Given the description of an element on the screen output the (x, y) to click on. 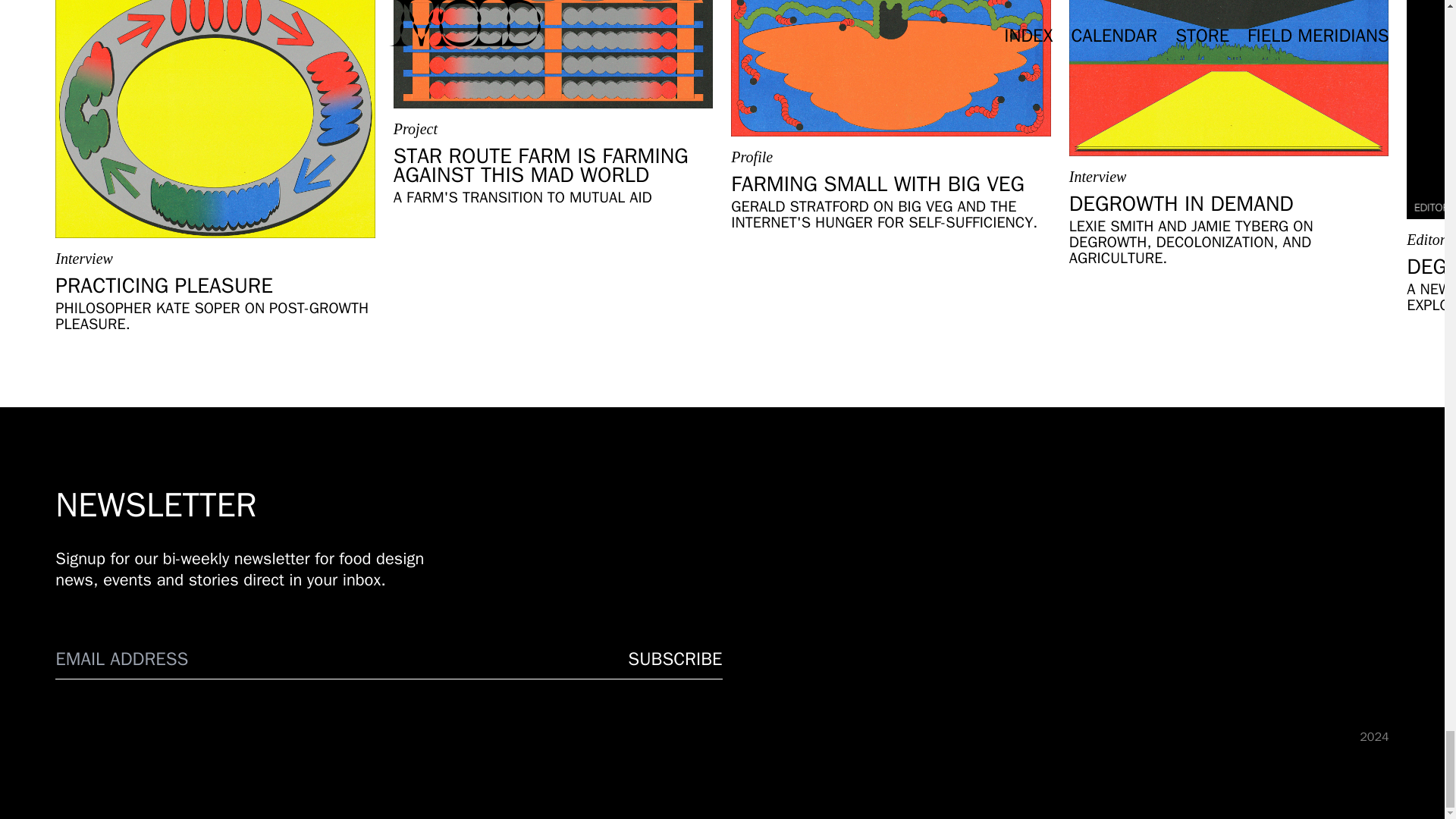
PRACTICING PLEASURE (163, 285)
A FARM'S TRANSITION TO MUTUAL AID (522, 197)
PHILOSOPHER KATE SOPER ON POST-GROWTH PLEASURE. (215, 316)
STAR ROUTE FARM IS FARMING AGAINST THIS MAD WORLD (553, 165)
Subscribe (674, 658)
